Given the description of an element on the screen output the (x, y) to click on. 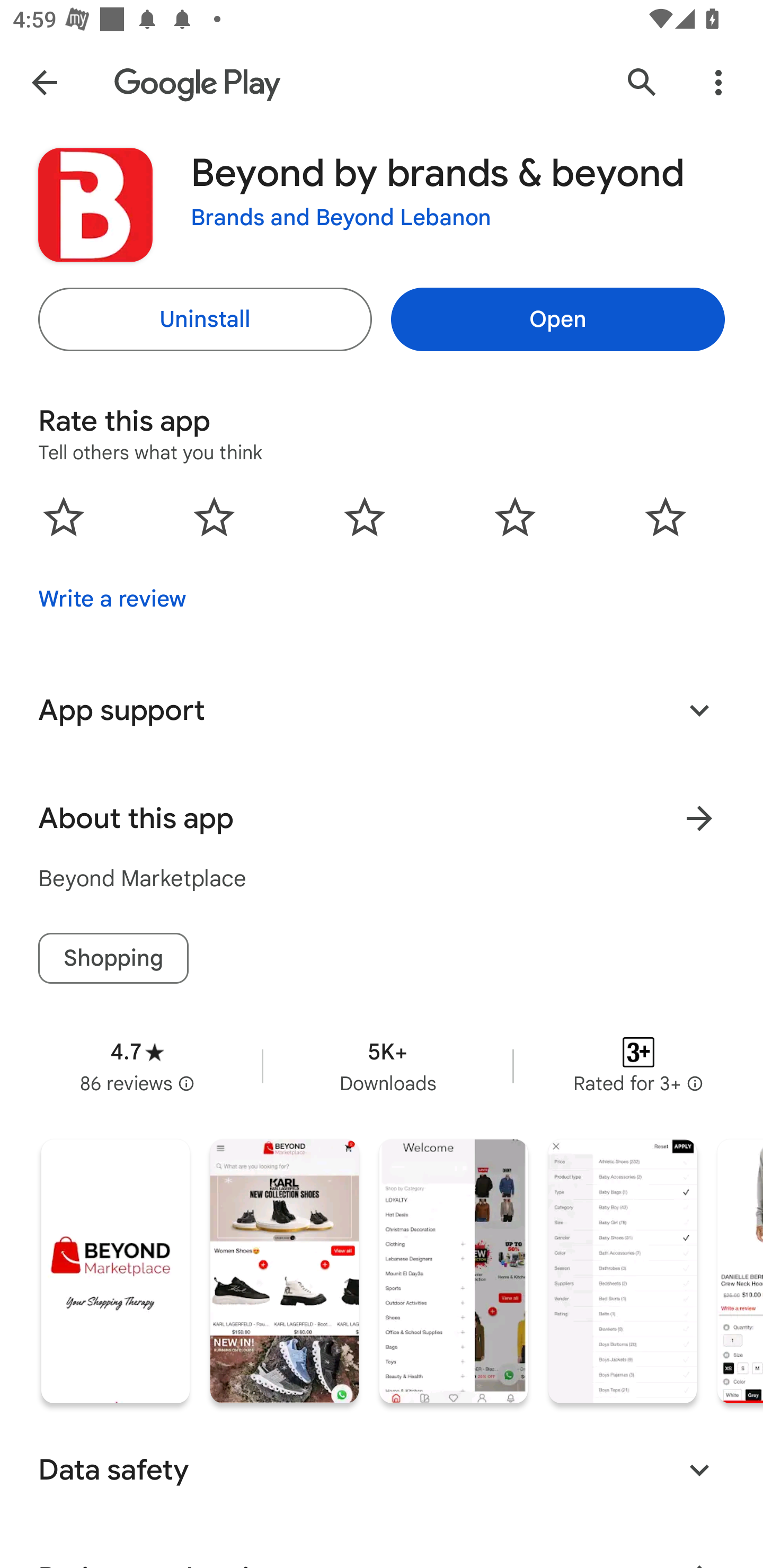
Navigate up (44, 81)
Search Google Play (642, 81)
More Options (718, 81)
Brands and Beyond Lebanon (340, 217)
Uninstall (205, 318)
Open (557, 318)
0.0 (364, 516)
Write a review (112, 598)
App support Expand (381, 710)
Expand (699, 709)
About this app Learn more About this app (381, 818)
Learn more About this app (699, 818)
Shopping tag (113, 957)
Average rating 4.7 stars in 86 reviews (137, 1066)
Content rating Rated for 3+ (638, 1066)
Screenshot "1" of "6" (115, 1271)
Screenshot "2" of "6" (284, 1271)
Screenshot "3" of "6" (453, 1271)
Screenshot "4" of "6" (622, 1271)
Data safety Expand (381, 1469)
Expand (699, 1469)
